Given the description of an element on the screen output the (x, y) to click on. 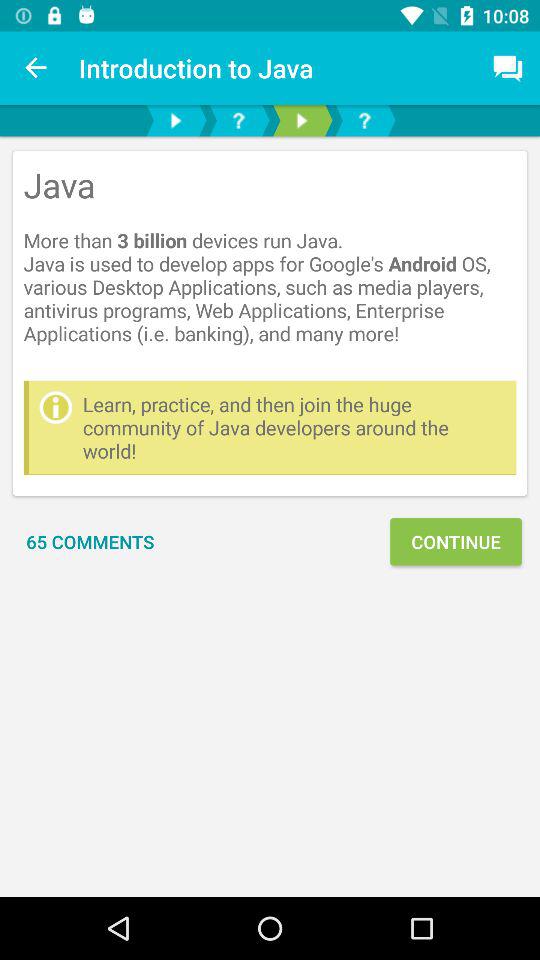
turn on icon below the learn practice and icon (90, 541)
